Given the description of an element on the screen output the (x, y) to click on. 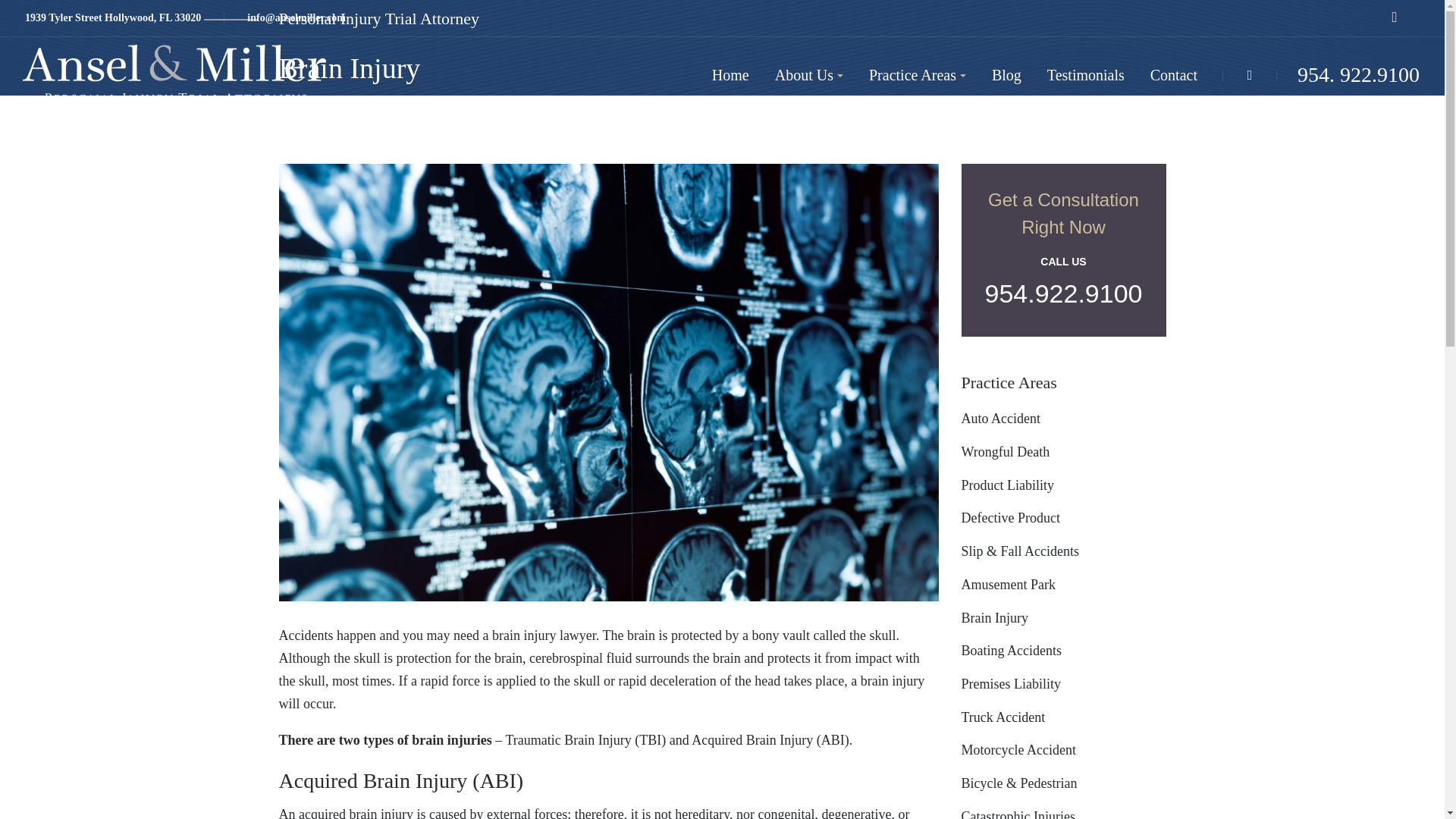
Testimonials (1086, 74)
Practice Areas (917, 74)
About Us (808, 74)
Search (1256, 150)
